Given the description of an element on the screen output the (x, y) to click on. 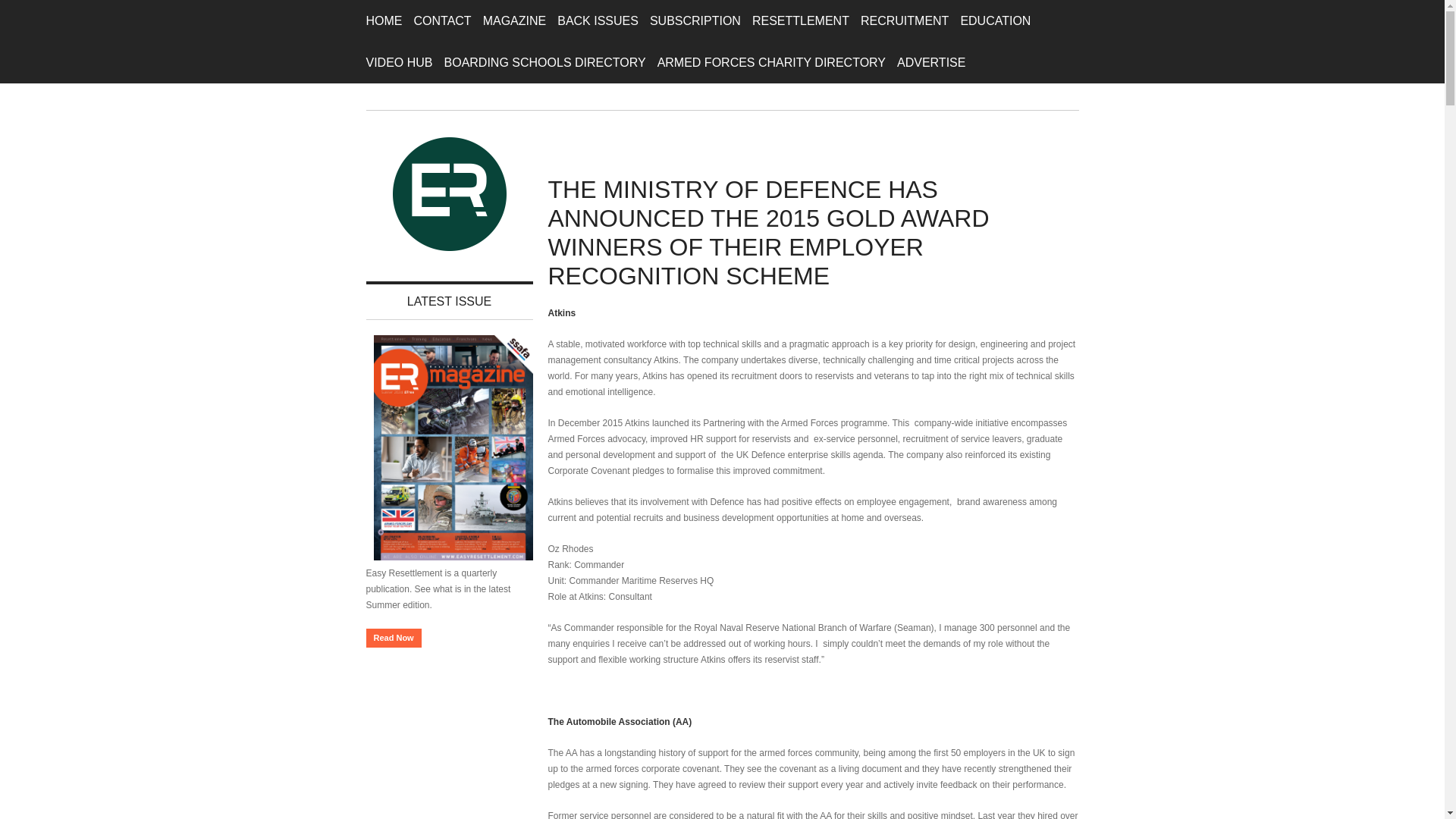
ADVERTISE (930, 62)
ARMED FORCES CHARITY DIRECTORY (771, 62)
Read Now (392, 637)
VIDEO HUB (398, 62)
RECRUITMENT (904, 20)
EDUCATION (994, 20)
BACK ISSUES (598, 20)
BOARDING SCHOOLS DIRECTORY (545, 62)
CONTACT (442, 20)
MAGAZINE (515, 20)
SUBSCRIPTION (695, 20)
RESETTLEMENT (800, 20)
